Given the description of an element on the screen output the (x, y) to click on. 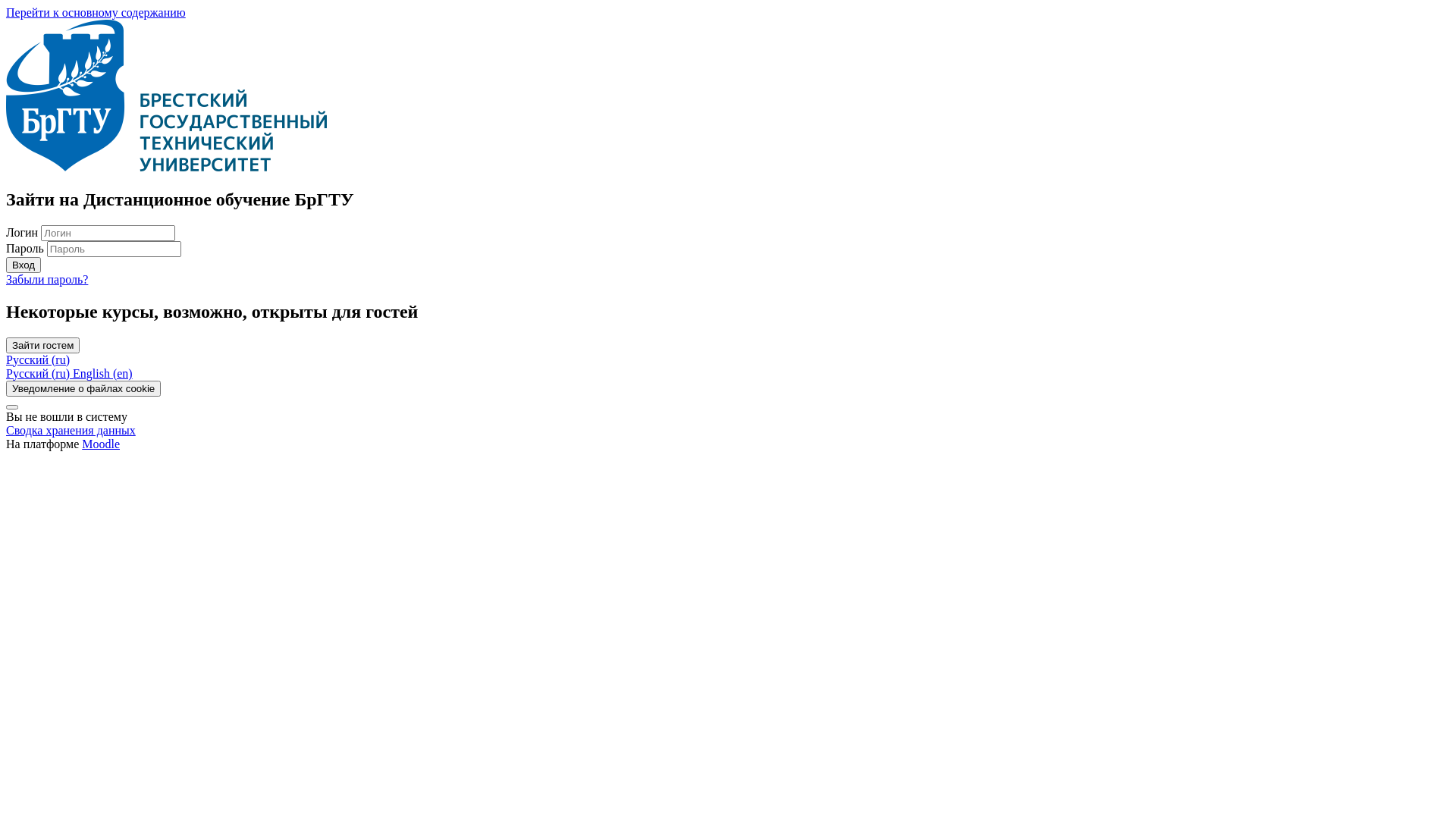
Moodle Element type: text (100, 443)
English (en) Element type: text (102, 373)
